Given the description of an element on the screen output the (x, y) to click on. 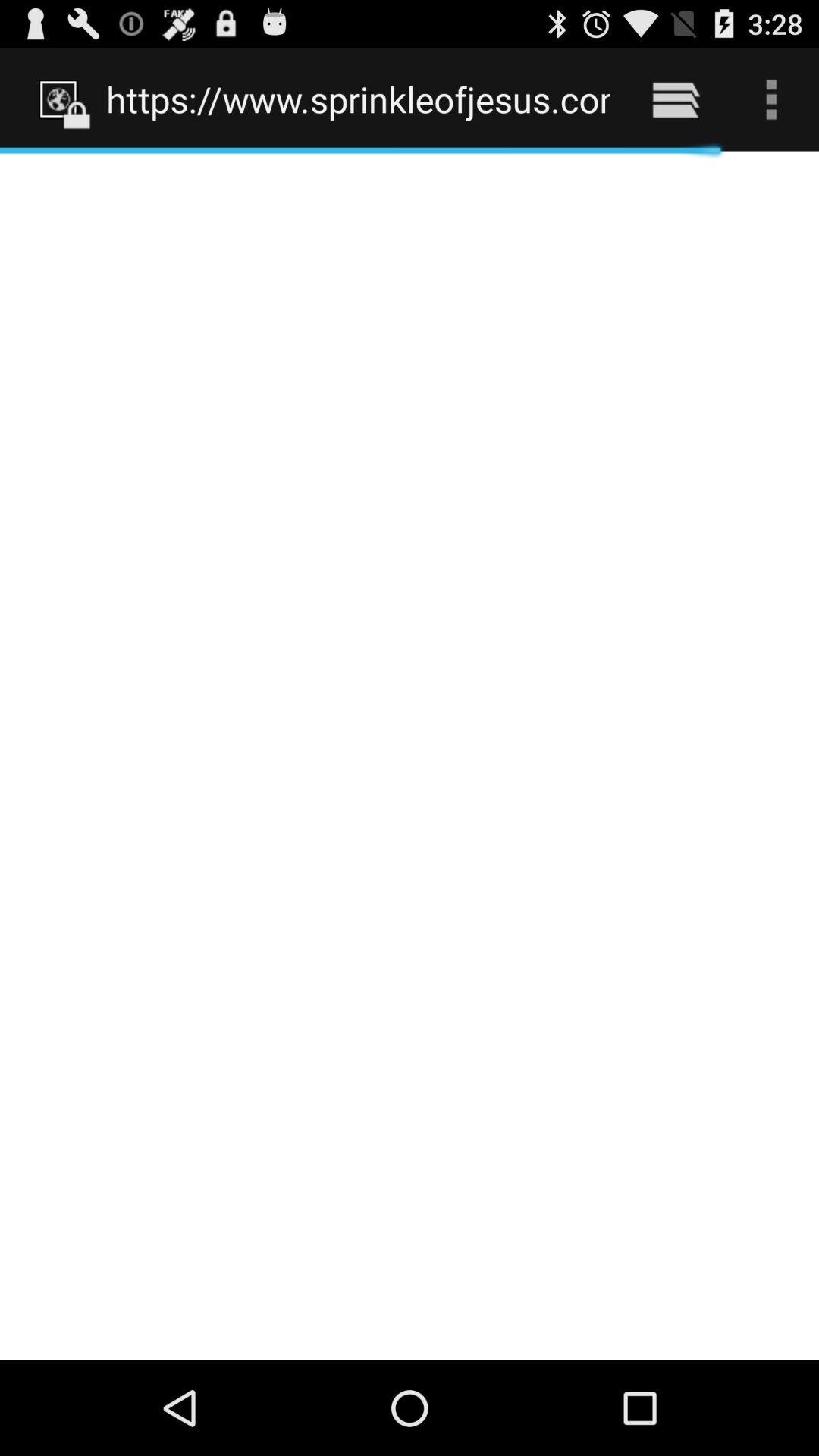
flip to the https www sprinkleofjesus item (357, 99)
